Given the description of an element on the screen output the (x, y) to click on. 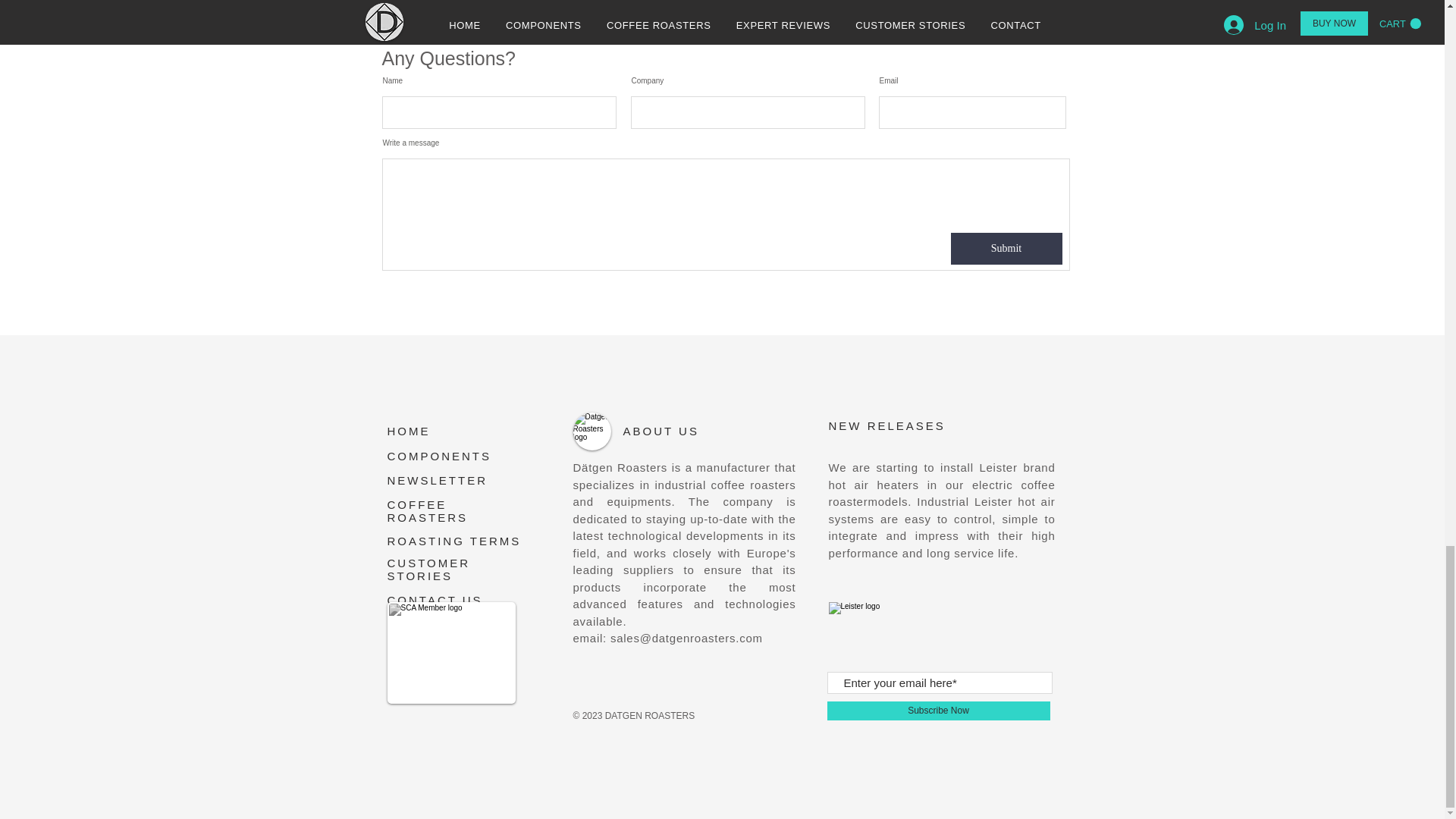
Submit (1006, 248)
COMPONENTS (439, 455)
HOME (408, 431)
